Given the description of an element on the screen output the (x, y) to click on. 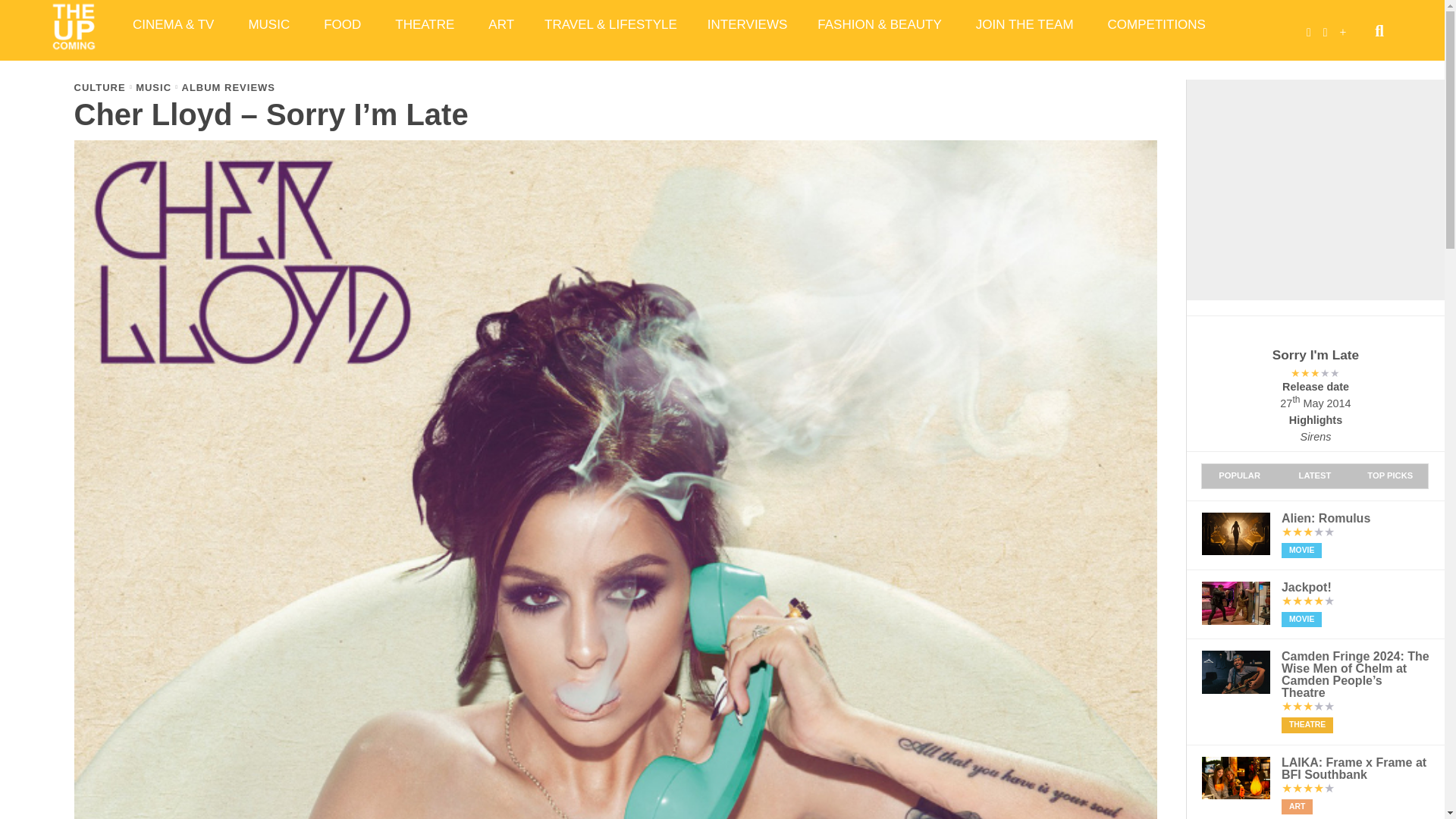
MUSIC (270, 24)
THEATRE (426, 24)
ART (501, 24)
JOIN THE TEAM (1026, 24)
FOOD (344, 24)
INTERVIEWS (747, 24)
